Given the description of an element on the screen output the (x, y) to click on. 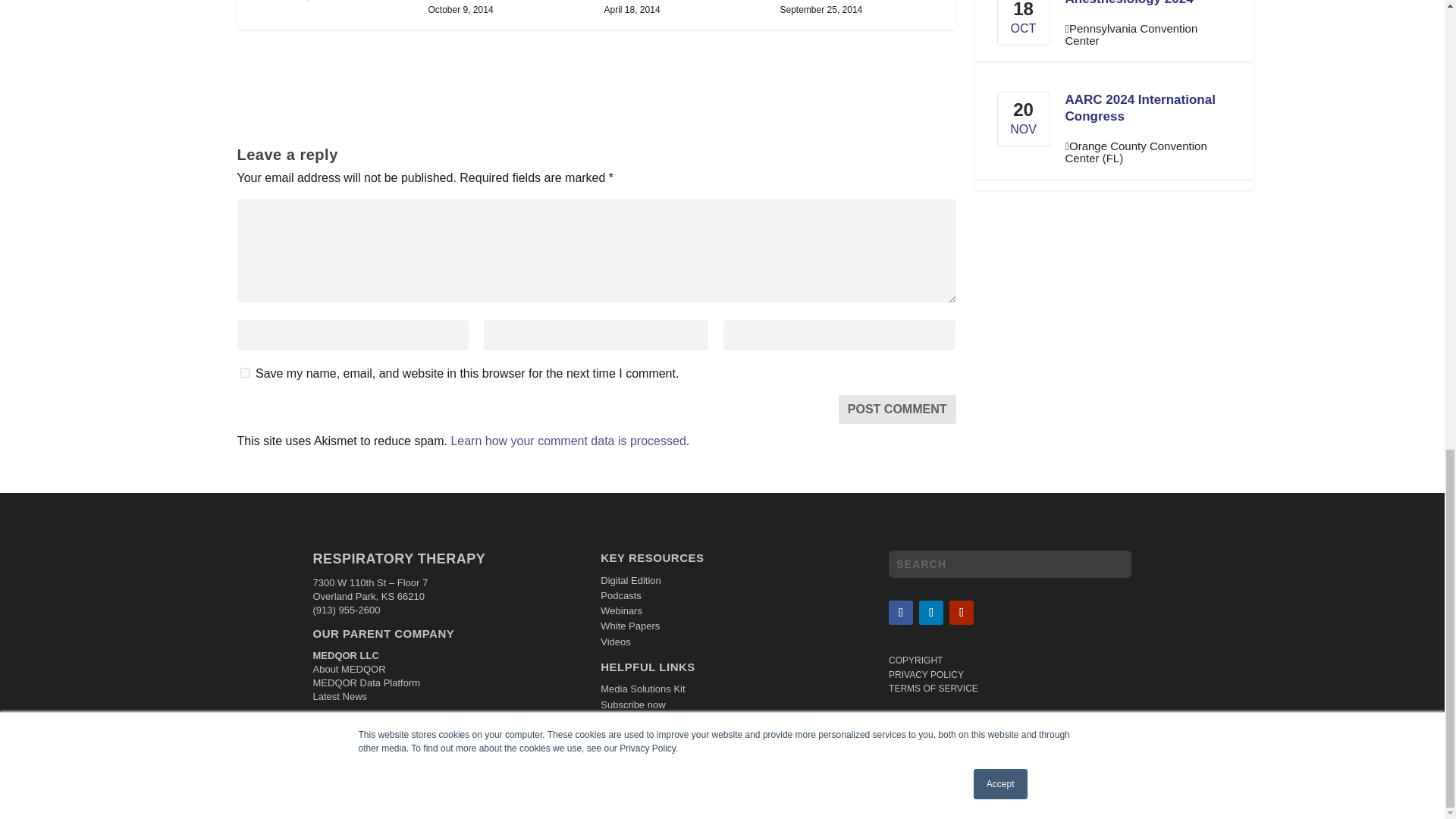
yes (244, 372)
Post Comment (897, 409)
